Given the description of an element on the screen output the (x, y) to click on. 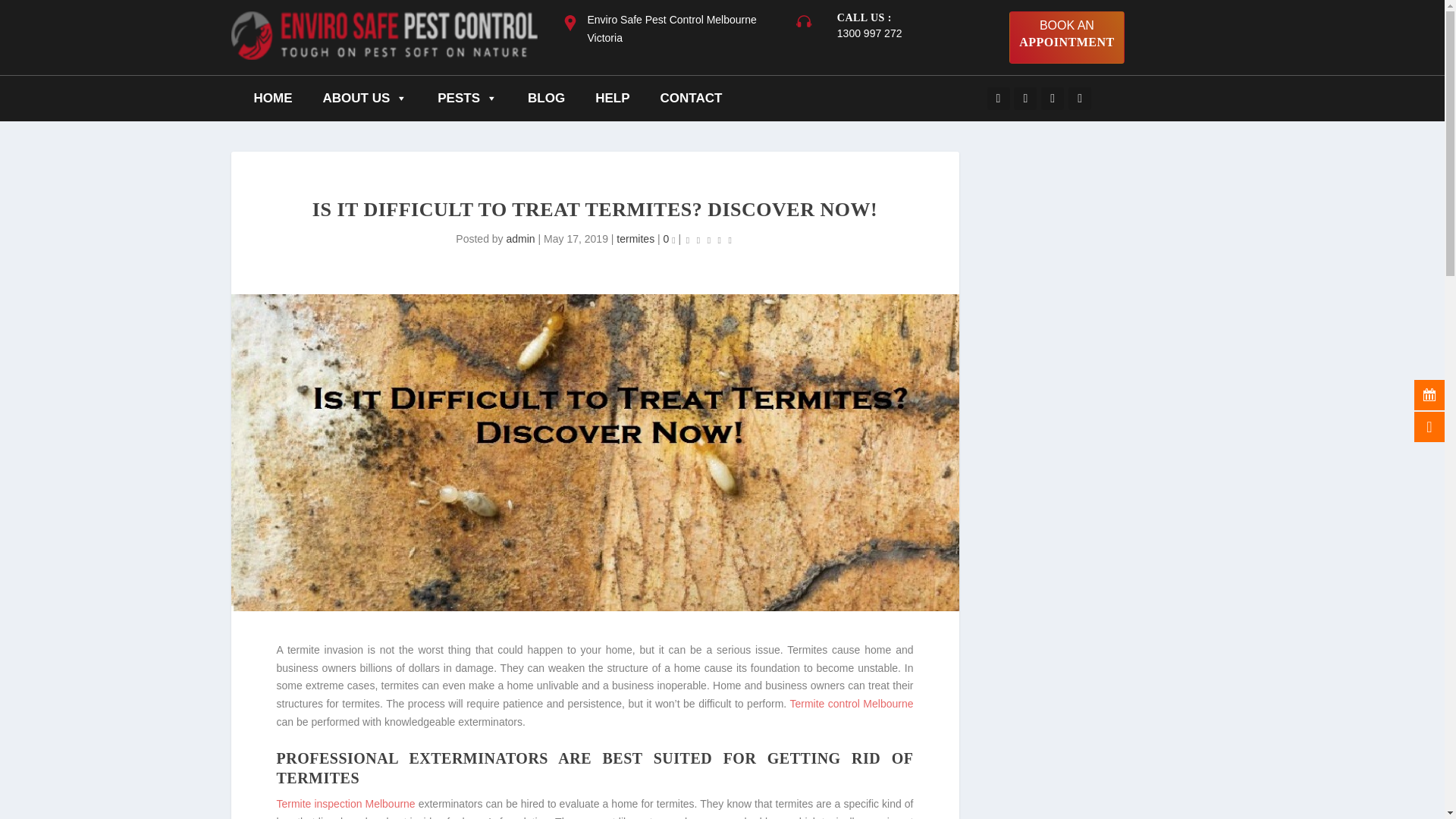
PESTS (467, 98)
Posts by admin (1066, 37)
1300 997 272 (520, 238)
Rating: 0.00 (869, 33)
HELP (708, 239)
HOME (612, 98)
CONTACT (272, 98)
ABOUT US (690, 98)
BLOG (365, 98)
